Given the description of an element on the screen output the (x, y) to click on. 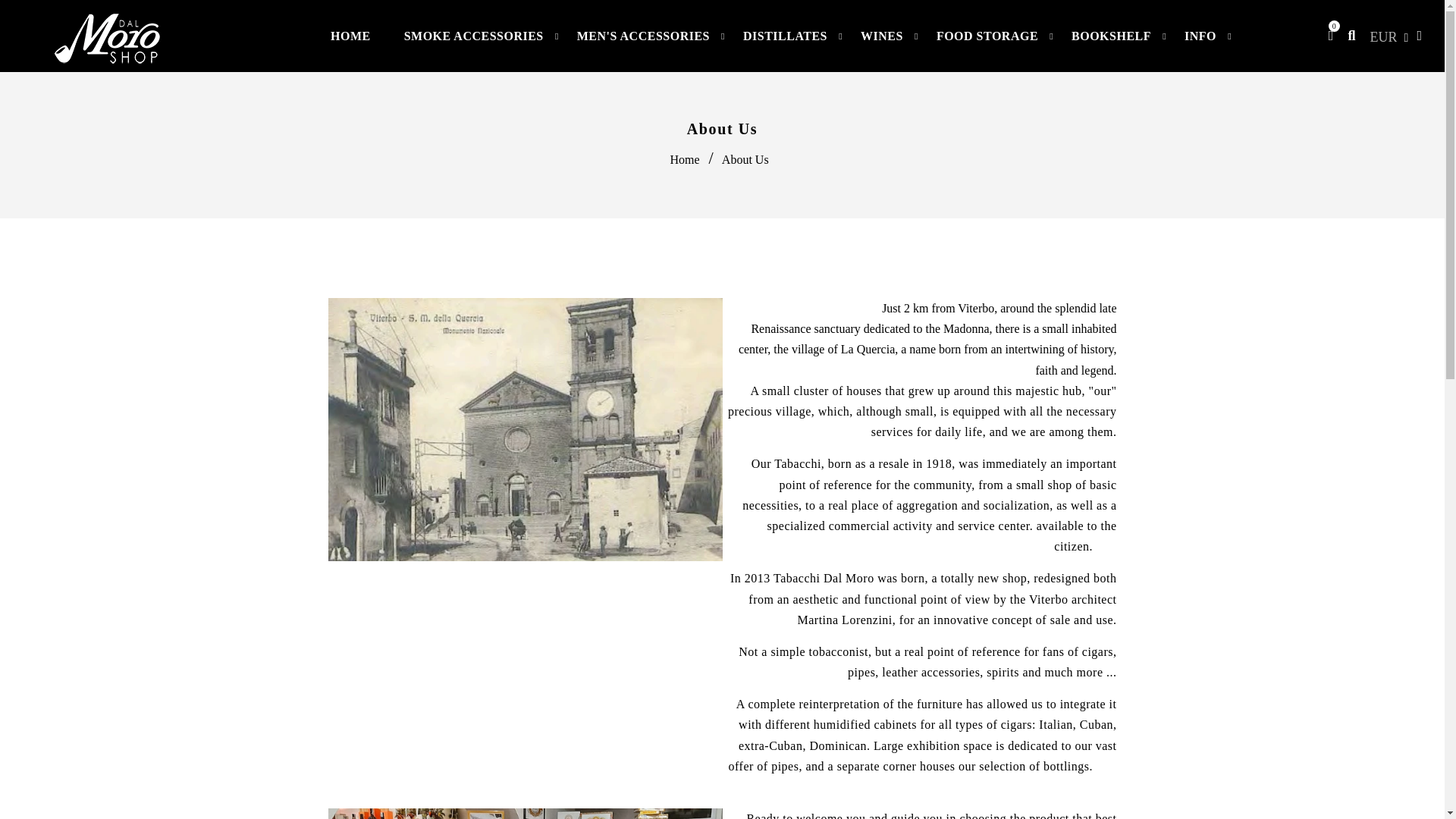
FOOD STORAGE (986, 35)
DISTILLATES (785, 35)
BOOKSHELF (1111, 35)
HOME (350, 35)
MEN'S ACCESSORIES (643, 35)
SMOKE ACCESSORIES (473, 35)
WINES (881, 35)
Back to the frontpage (685, 159)
